Given the description of an element on the screen output the (x, y) to click on. 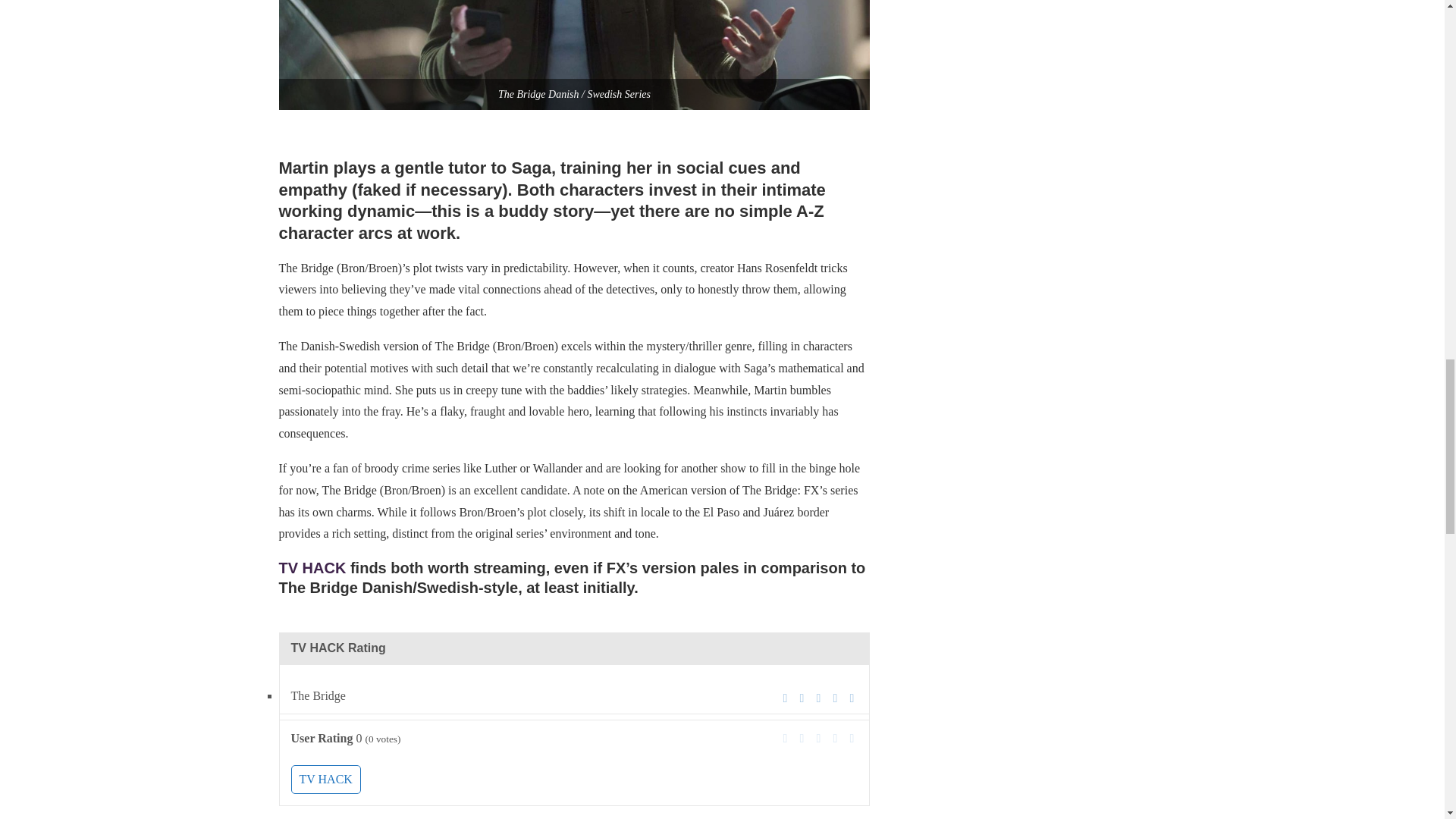
TV HACK (312, 567)
TV HACK (326, 778)
